Given the description of an element on the screen output the (x, y) to click on. 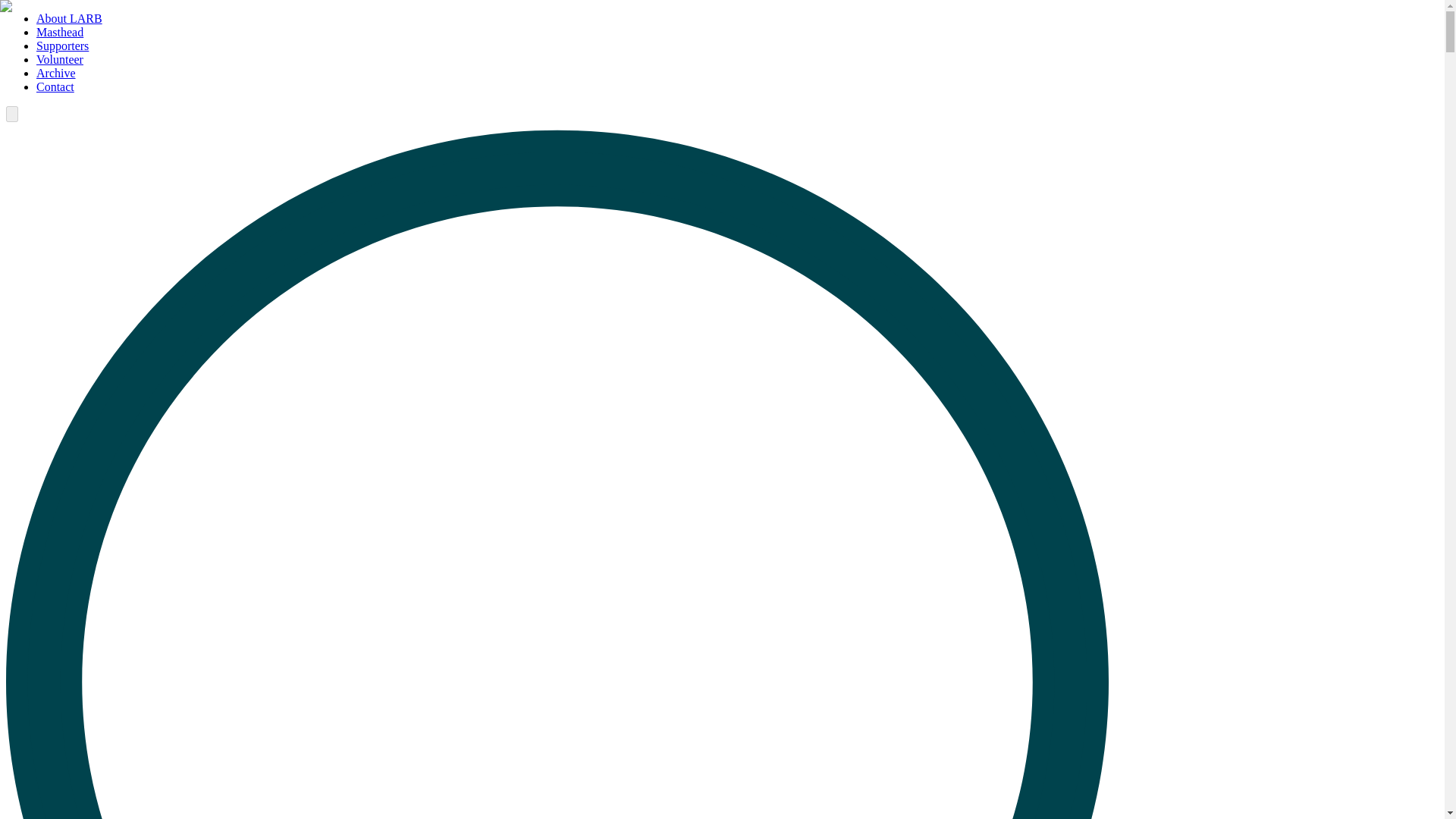
Archive (55, 72)
Volunteer (59, 59)
About LARB (68, 18)
Supporters (62, 45)
Masthead (59, 31)
Contact (55, 86)
